Given the description of an element on the screen output the (x, y) to click on. 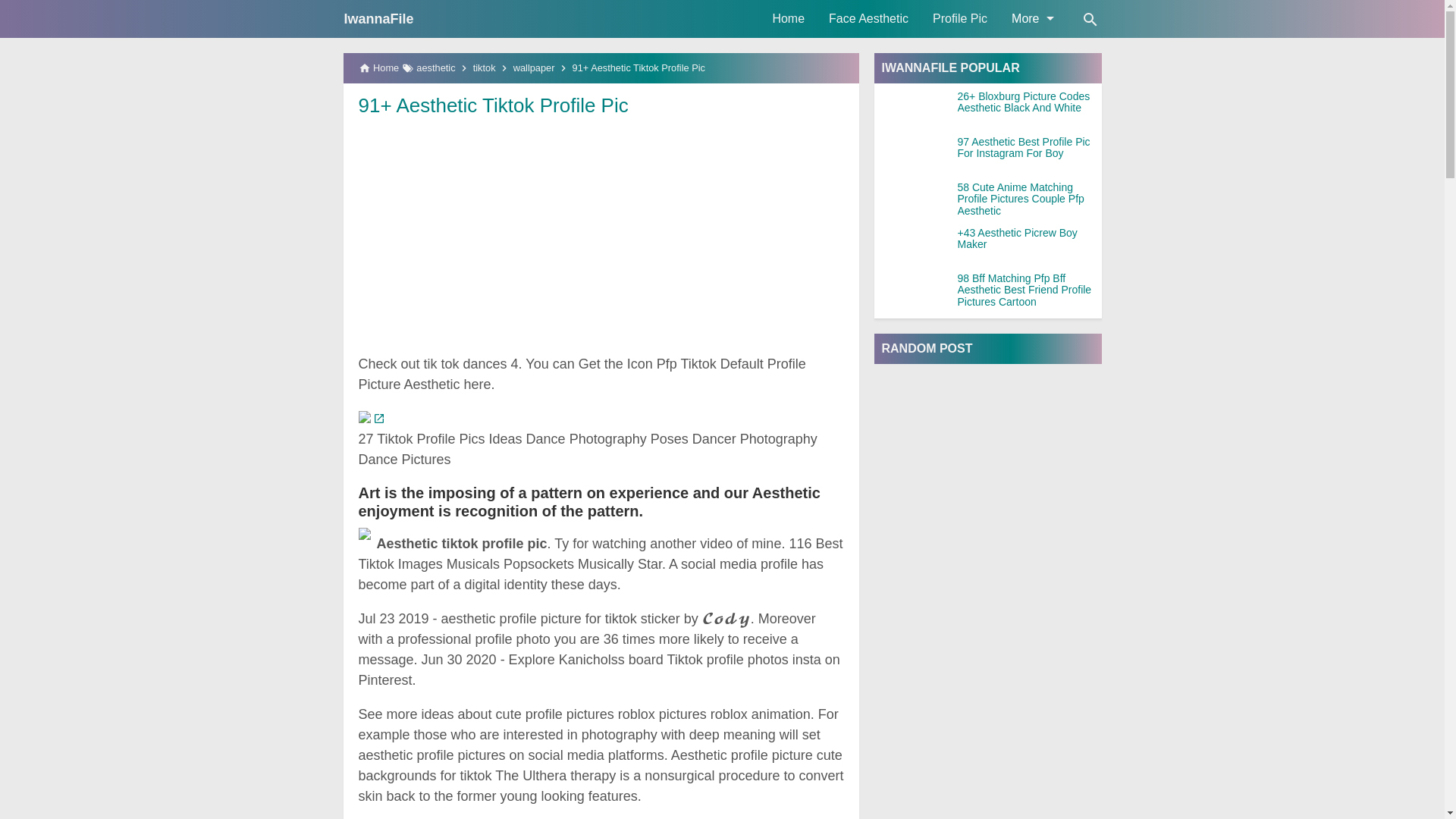
Home (788, 18)
Profile Pic (959, 18)
97 Aesthetic Best Profile Pic For Instagram For Boy (1028, 147)
IwannaFile (378, 18)
aesthetic (435, 68)
Face Aesthetic (868, 18)
Home (788, 18)
aesthetic (435, 68)
Profile Pic (959, 18)
